Given the description of an element on the screen output the (x, y) to click on. 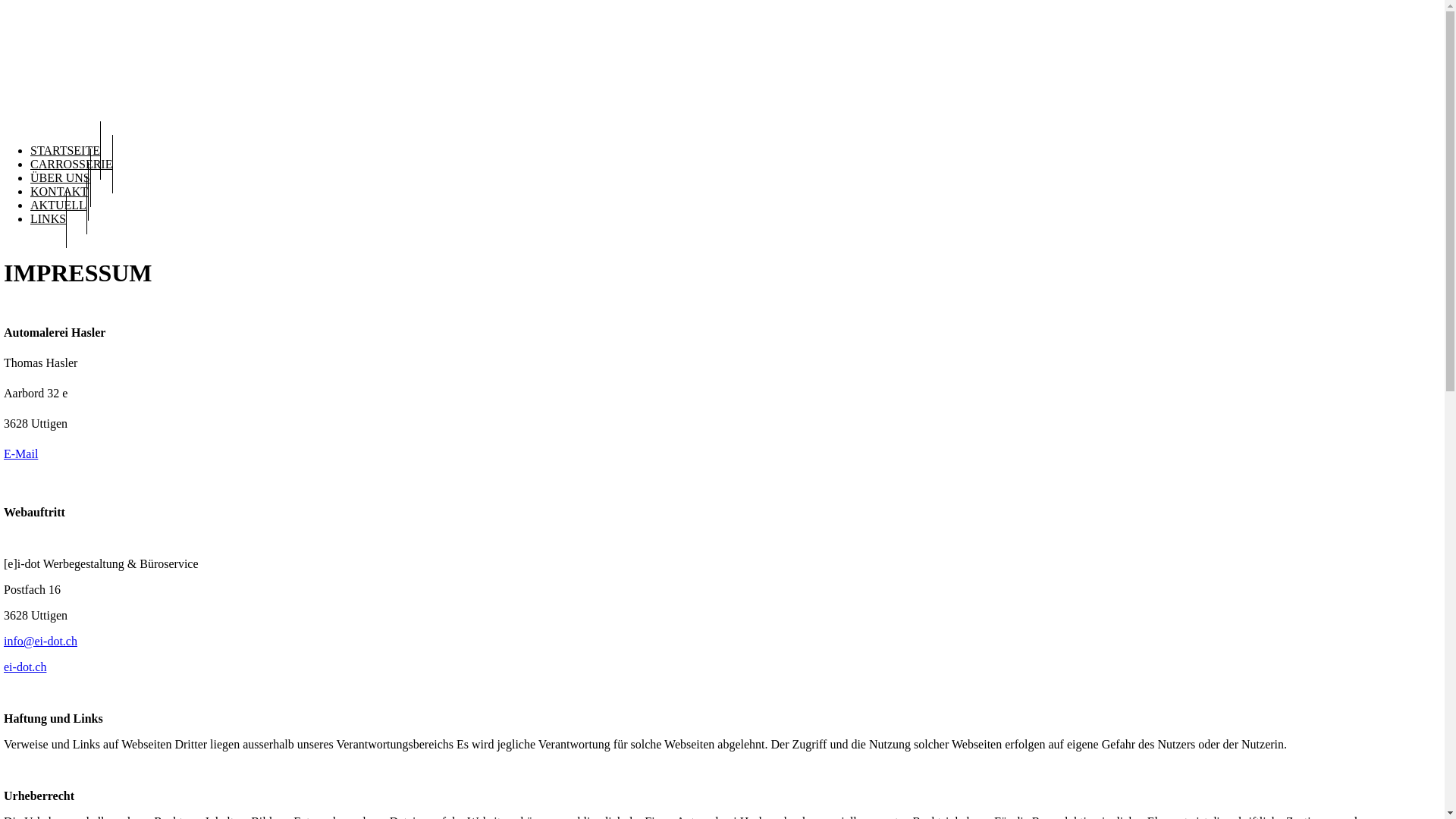
KONTAKT Element type: text (59, 191)
info@ei-dot.ch Element type: text (40, 640)
AKTUELL Element type: text (58, 204)
CARROSSERIE Element type: text (71, 163)
ei-dot.ch Element type: text (24, 666)
E-Mail Element type: text (20, 453)
STARTSEITE Element type: text (65, 150)
LINKS Element type: text (48, 218)
